Given the description of an element on the screen output the (x, y) to click on. 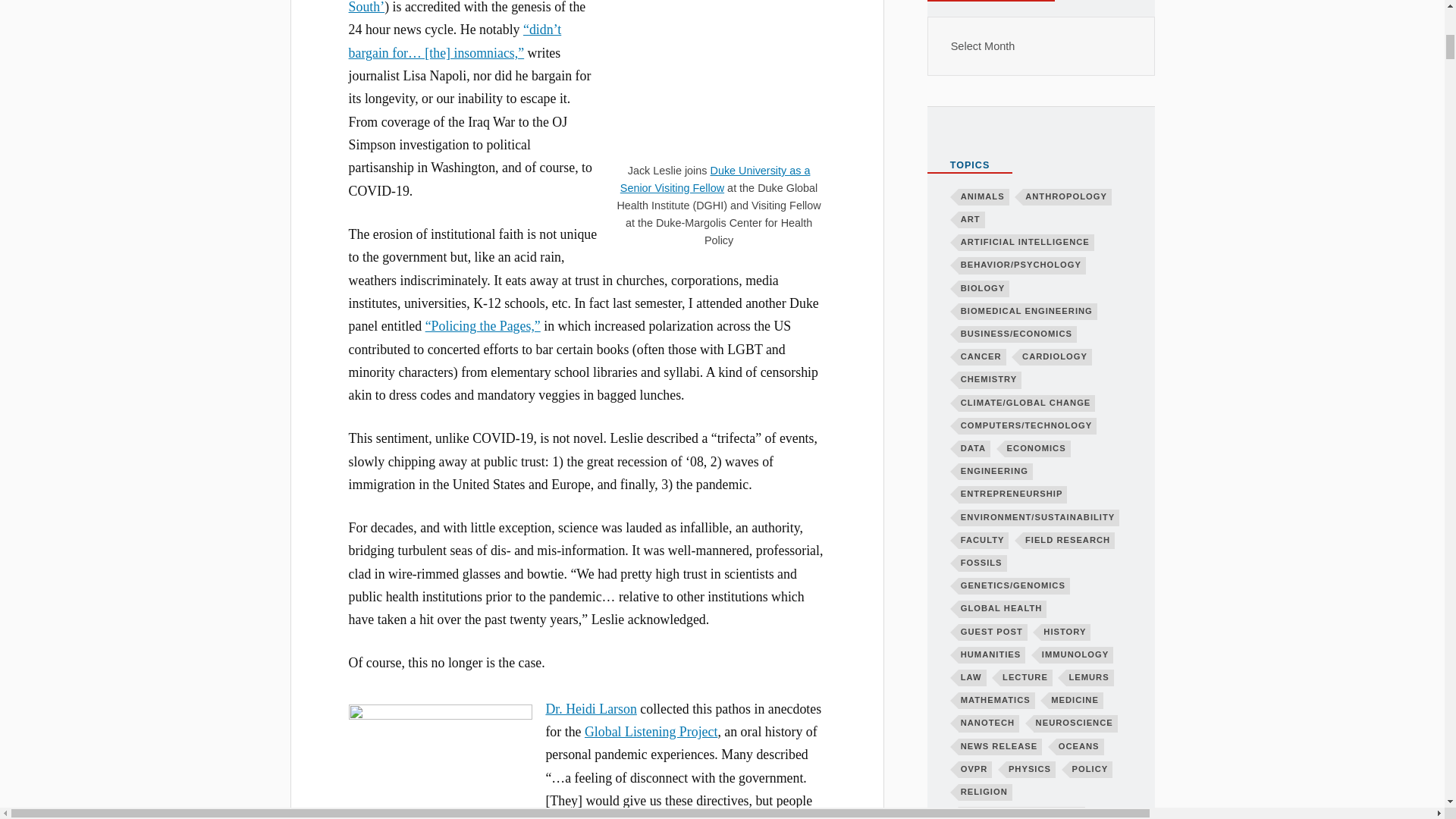
Global Listening Project (651, 731)
Duke University as a Senior Visiting Fellow (715, 179)
Dr. Heidi Larson (590, 708)
